Given the description of an element on the screen output the (x, y) to click on. 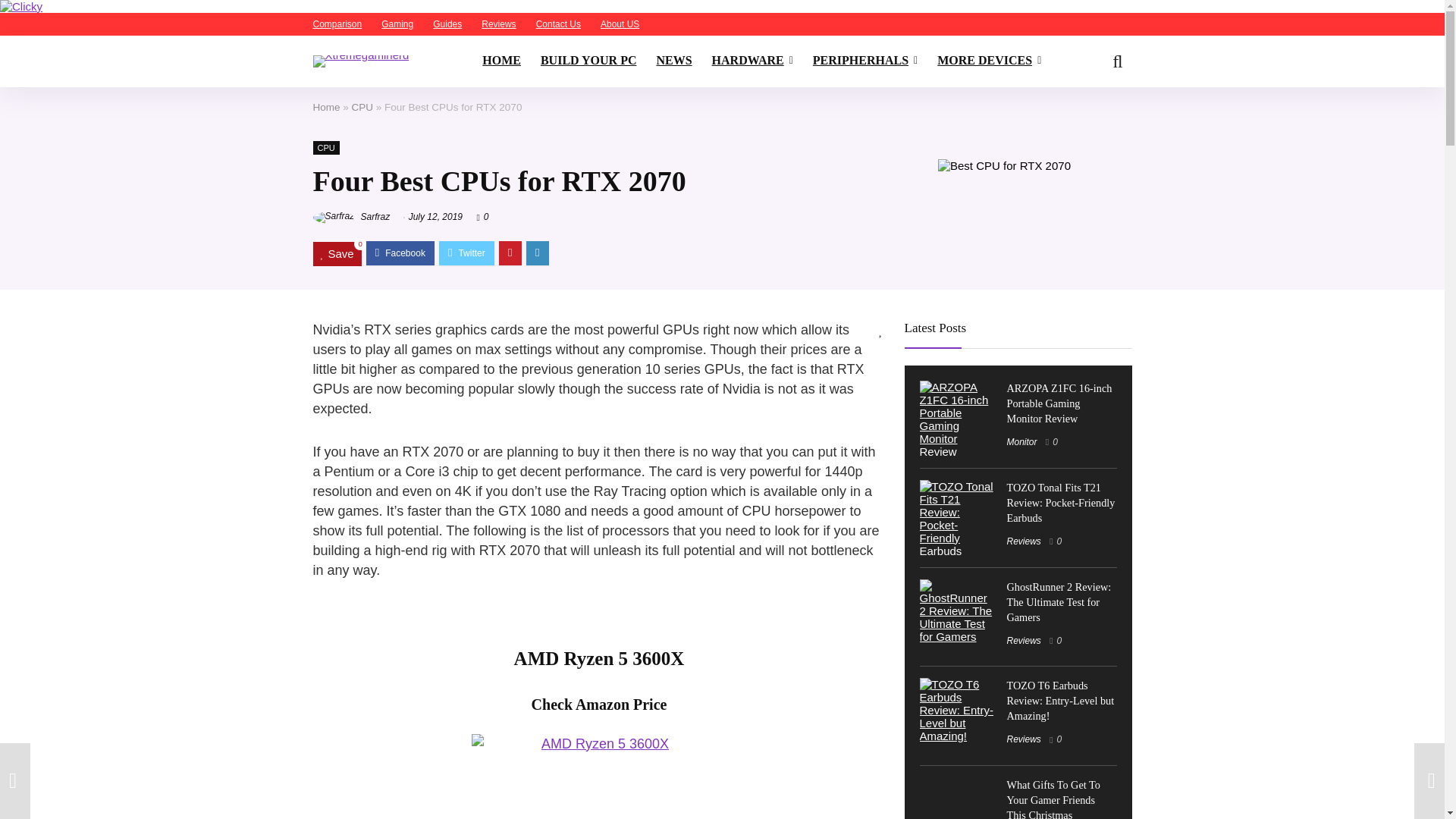
Contact Us (557, 23)
HOME (501, 61)
MORE DEVICES (989, 61)
About US (619, 23)
PERIPHERHALS (865, 61)
HARDWARE (752, 61)
View all posts in CPU (326, 147)
Reviews (498, 23)
BUILD YOUR PC (588, 61)
Guides (446, 23)
NEWS (673, 61)
Privacy-friendly Web Analytics (21, 6)
Gaming (397, 23)
Comparison (337, 23)
